Given the description of an element on the screen output the (x, y) to click on. 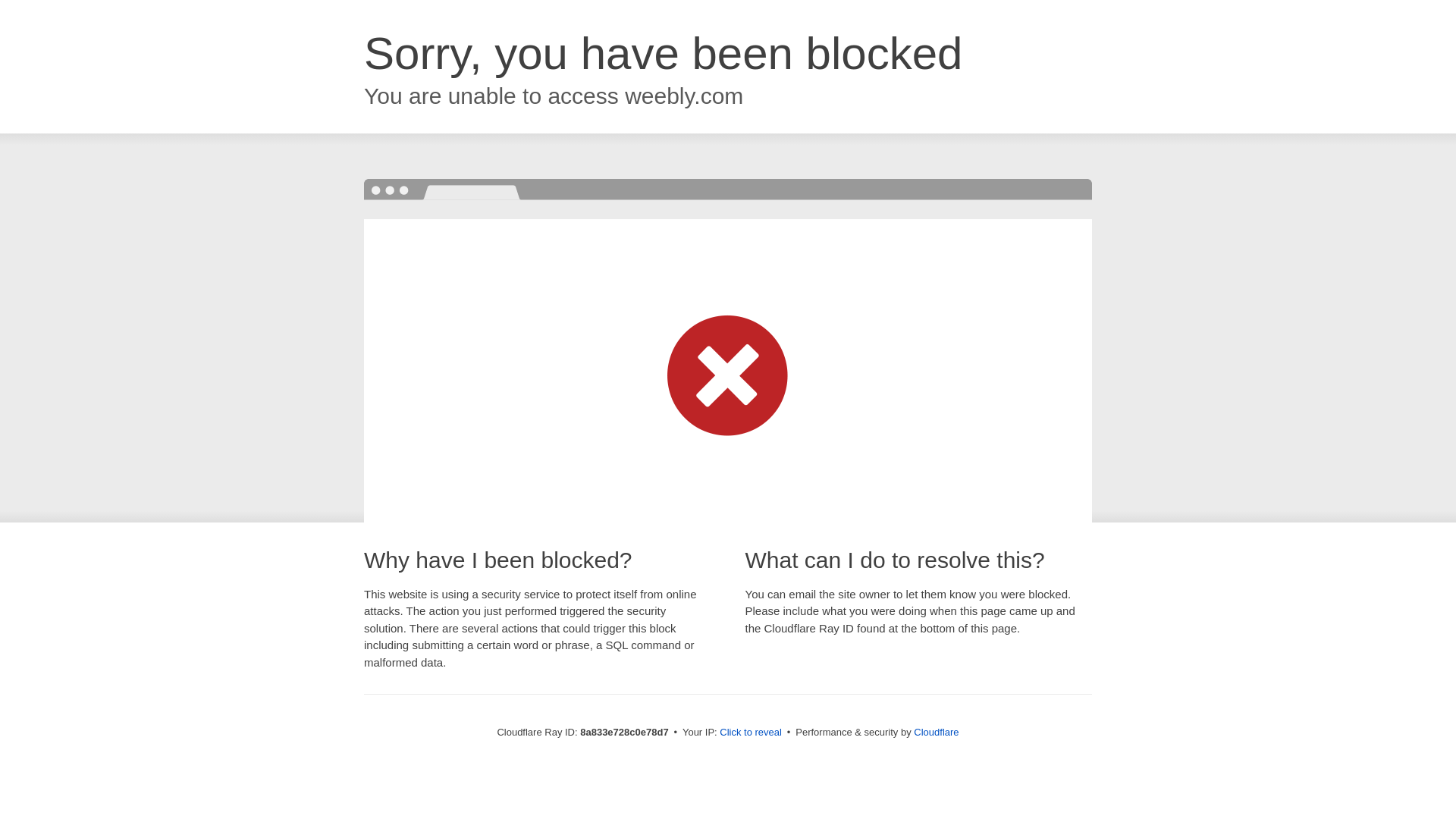
Click to reveal (750, 732)
Cloudflare (936, 731)
